Given the description of an element on the screen output the (x, y) to click on. 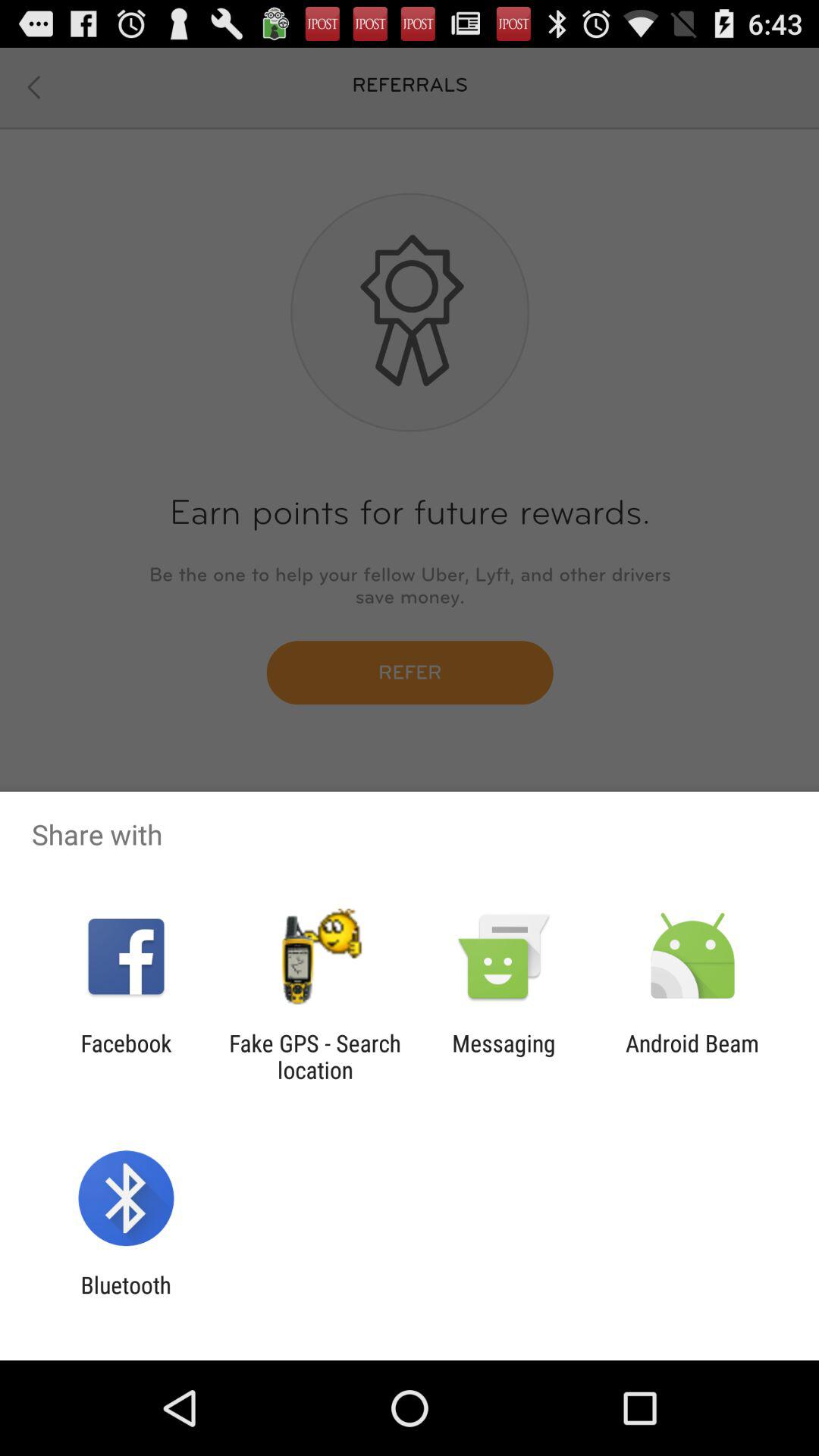
turn off the item to the right of the facebook app (314, 1056)
